Given the description of an element on the screen output the (x, y) to click on. 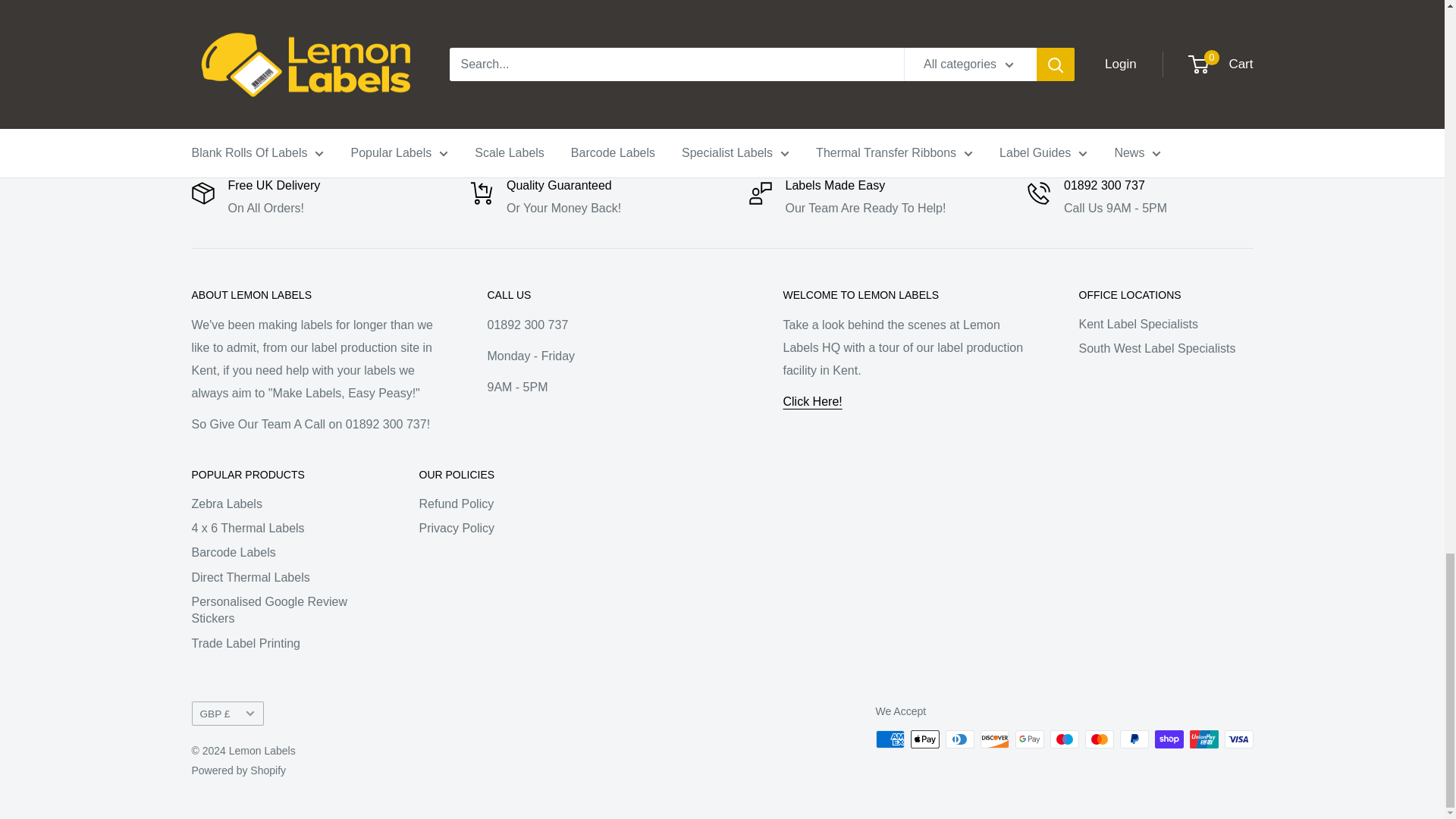
Take A Look Behind The Scenes At Lemon Labels HQ! (812, 400)
